Given the description of an element on the screen output the (x, y) to click on. 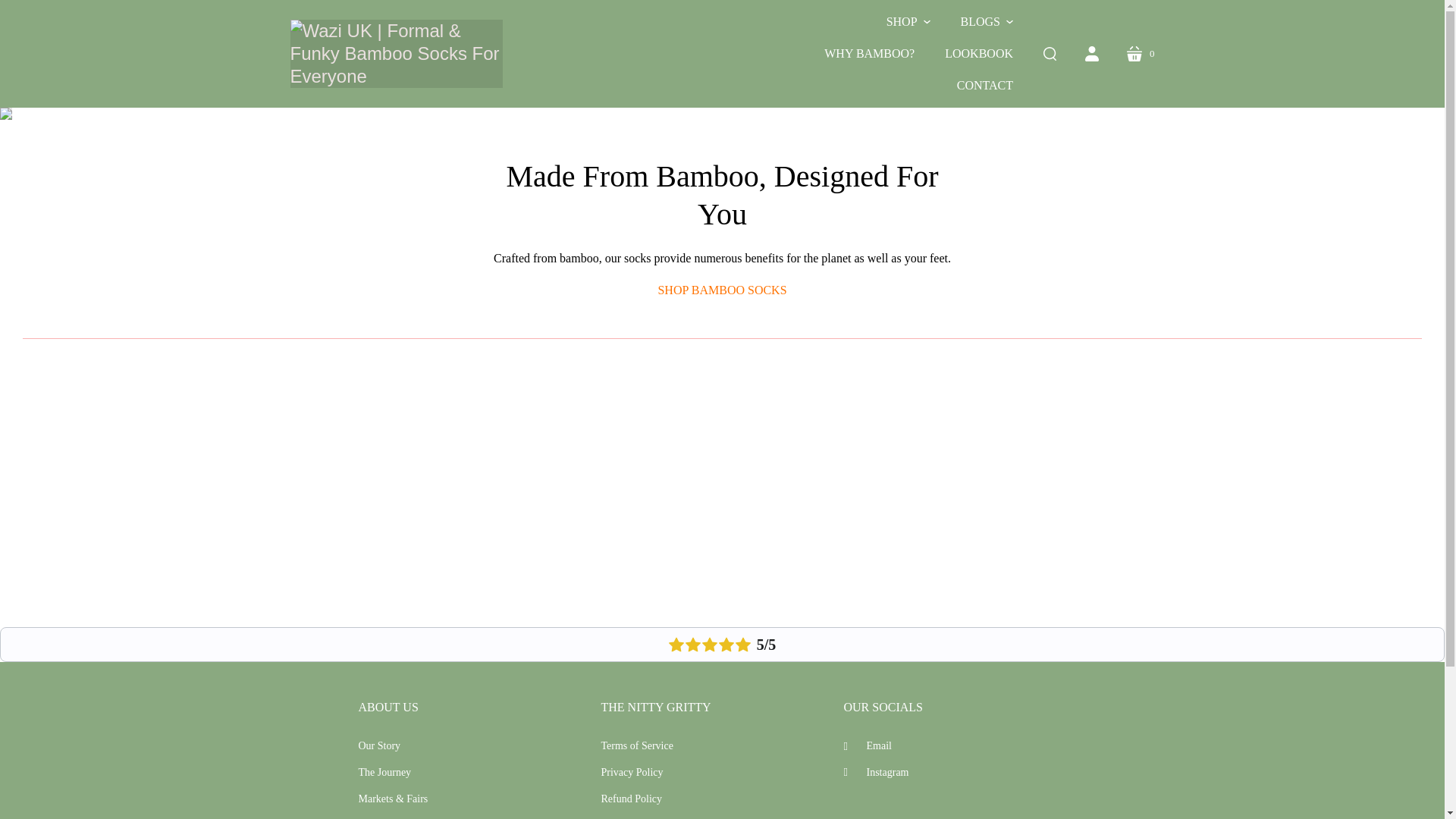
LOOKBOOK (1140, 53)
account (978, 53)
CONTACT (1091, 53)
search (984, 85)
All Products (1048, 53)
SHOP BAMBOO SOCKS (722, 289)
WHY BAMBOO? (722, 289)
